Given the description of an element on the screen output the (x, y) to click on. 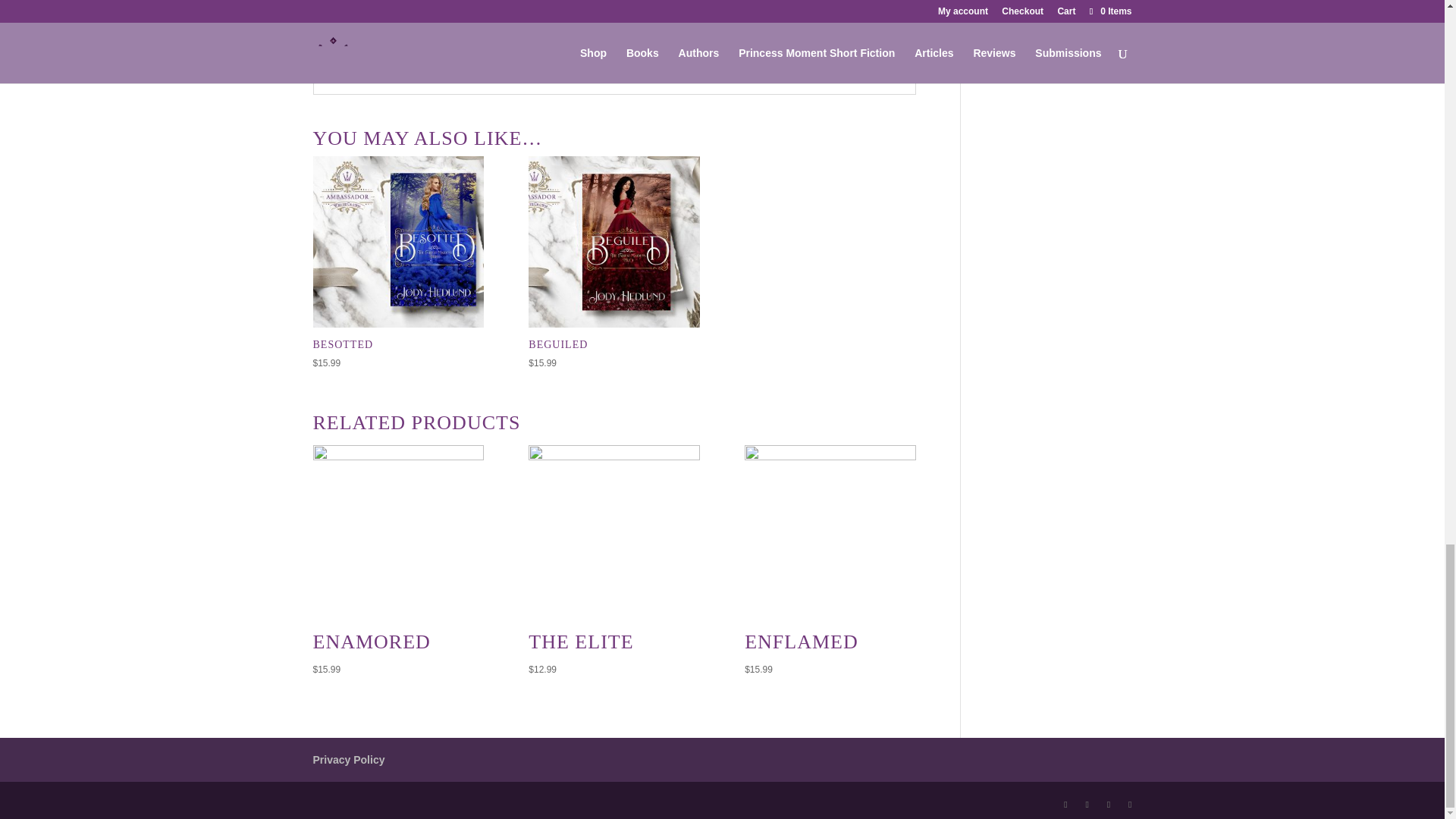
yes (344, 9)
Submit (862, 55)
Submit (862, 55)
